Given the description of an element on the screen output the (x, y) to click on. 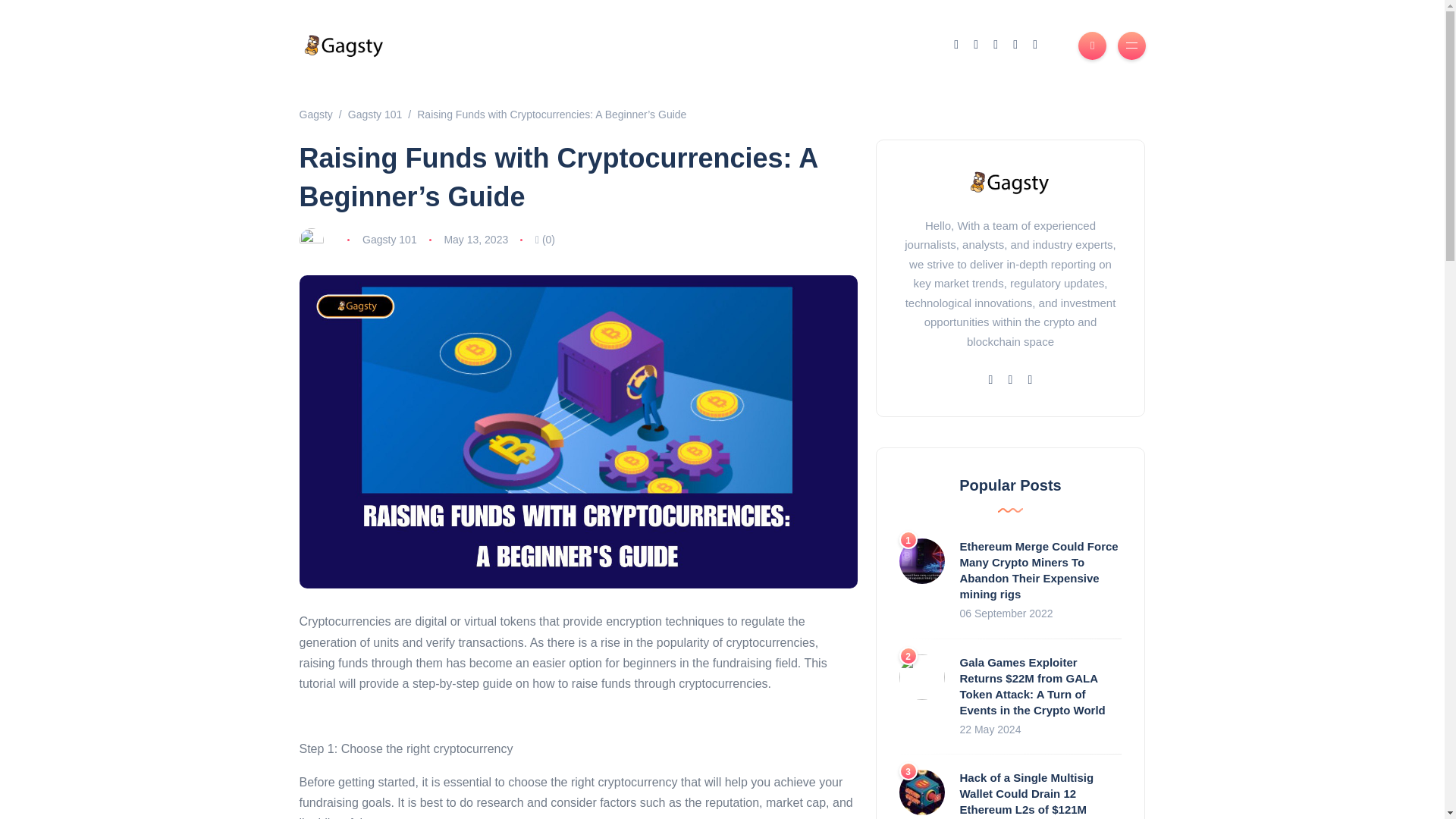
Gagsty 101 (375, 114)
Gagsty 101 (389, 239)
Go to the Gagsty 101 Category archives. (375, 114)
Go to Gagsty. (314, 114)
Gagsty (314, 114)
